Given the description of an element on the screen output the (x, y) to click on. 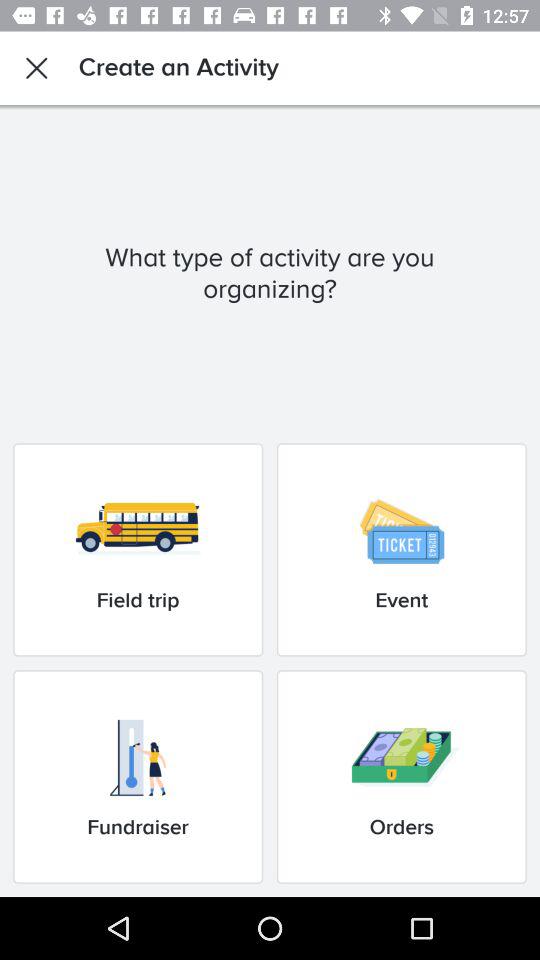
swipe to the field trip (138, 549)
